Given the description of an element on the screen output the (x, y) to click on. 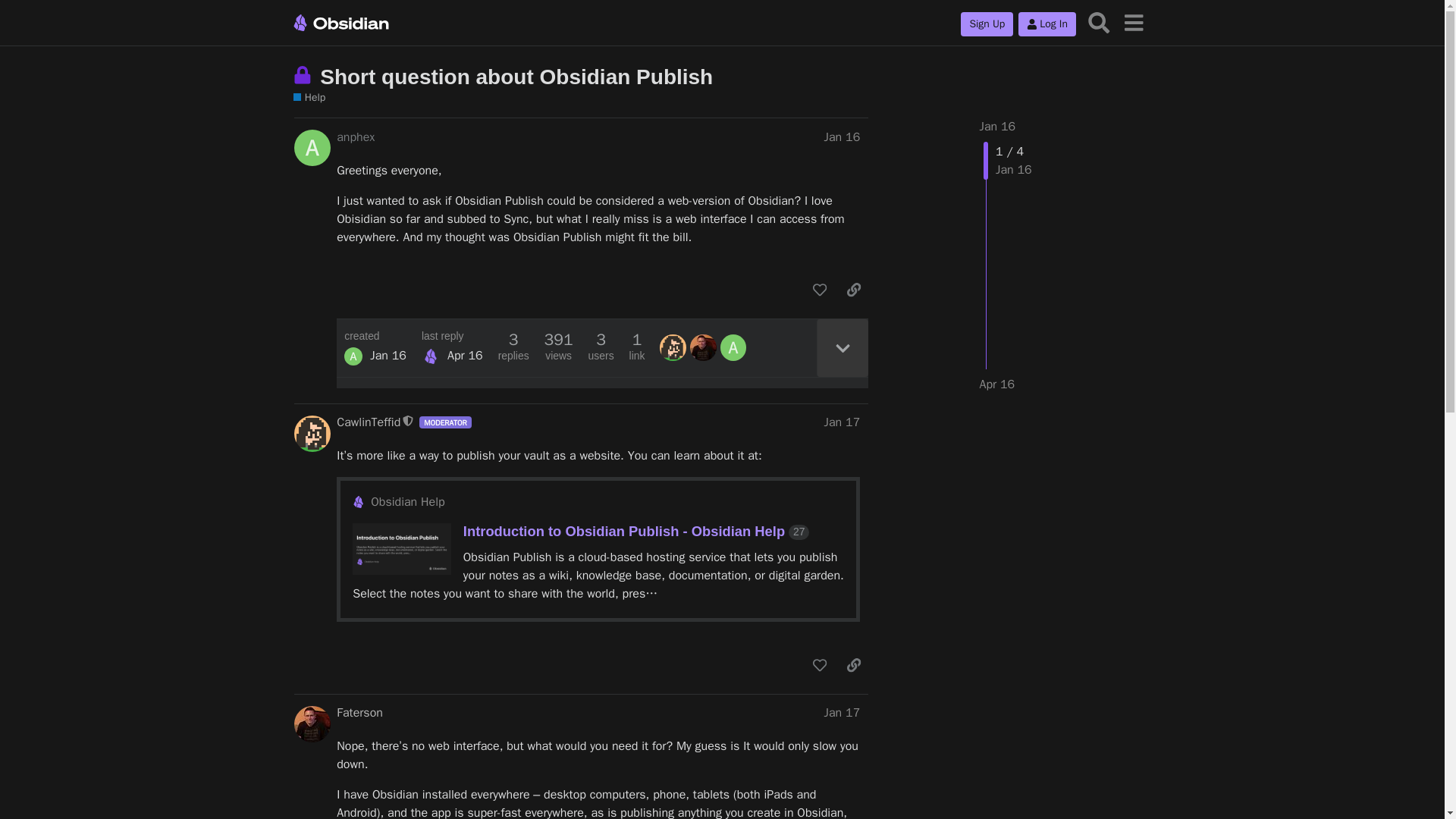
Sign Up (986, 24)
Help (309, 98)
last reply (452, 336)
Jan 17 (842, 421)
anphex (355, 136)
menu (1133, 21)
Apr 16, 2024 2:08 pm (464, 355)
Jan 16 (997, 126)
Short question about Obsidian Publish (516, 76)
Log In (1046, 24)
Jan 16, 2024 2:55 pm (387, 355)
Jump to the last post (996, 384)
CawlinTeffid (368, 422)
Jan 16 (842, 136)
anphex (352, 356)
